Given the description of an element on the screen output the (x, y) to click on. 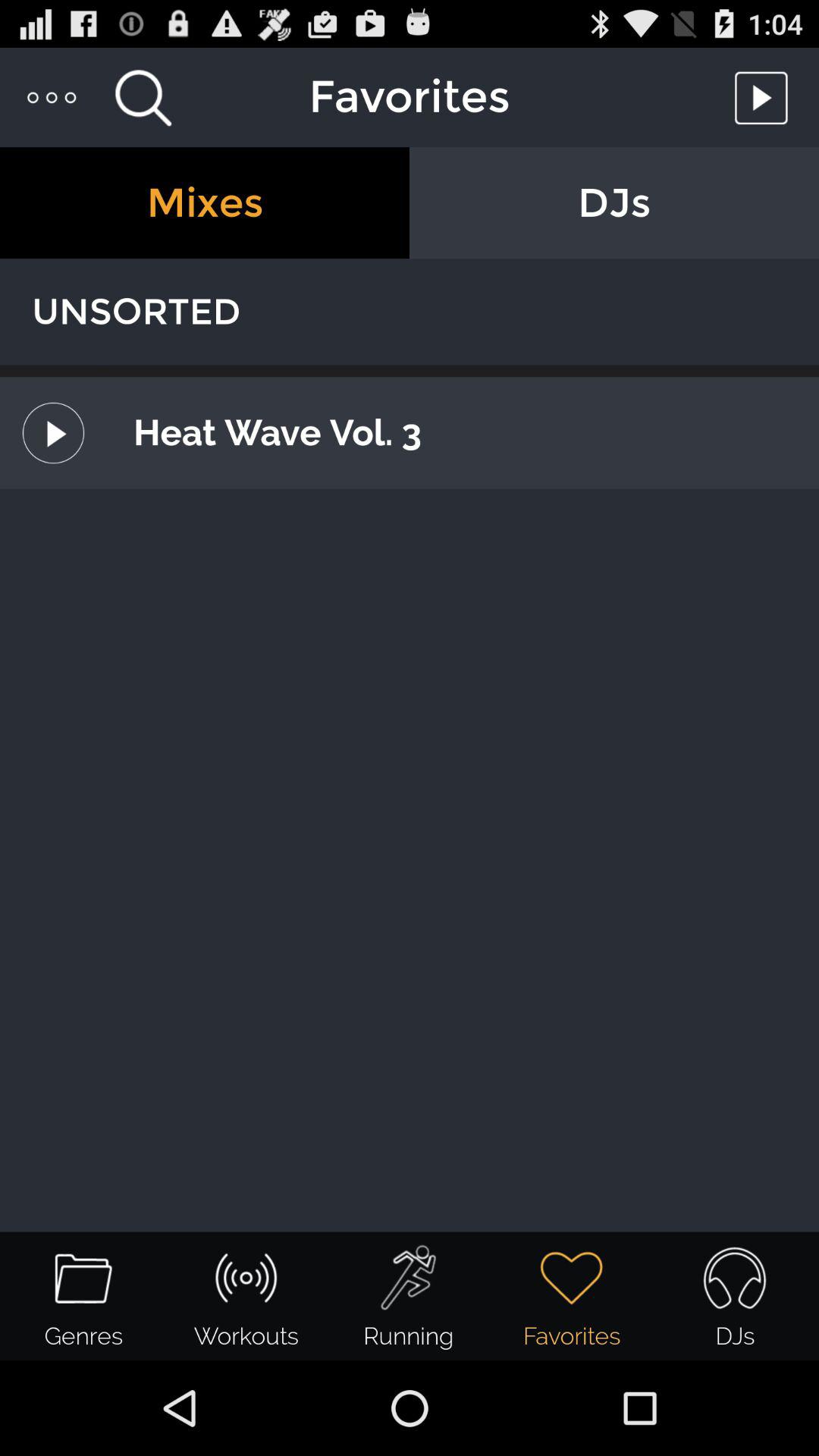
press the item below favorites item (204, 202)
